Given the description of an element on the screen output the (x, y) to click on. 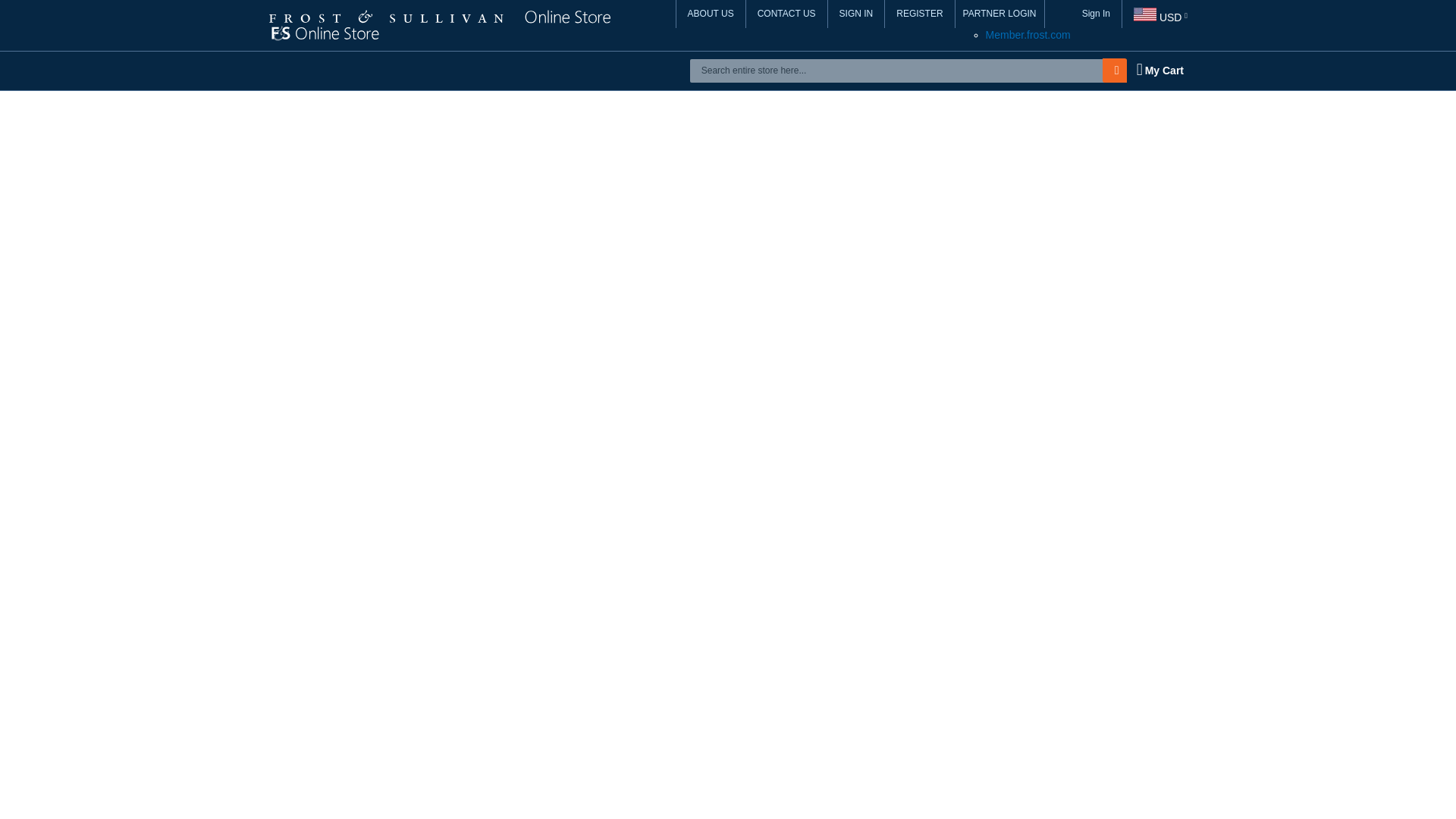
SIGN IN (856, 13)
REGISTER (920, 13)
Sign In (1096, 13)
CONTACT US (786, 13)
Member.frost.com (1027, 34)
ABOUT US (711, 13)
My Cart (1159, 69)
PARTNER LOGIN (1000, 13)
